Given the description of an element on the screen output the (x, y) to click on. 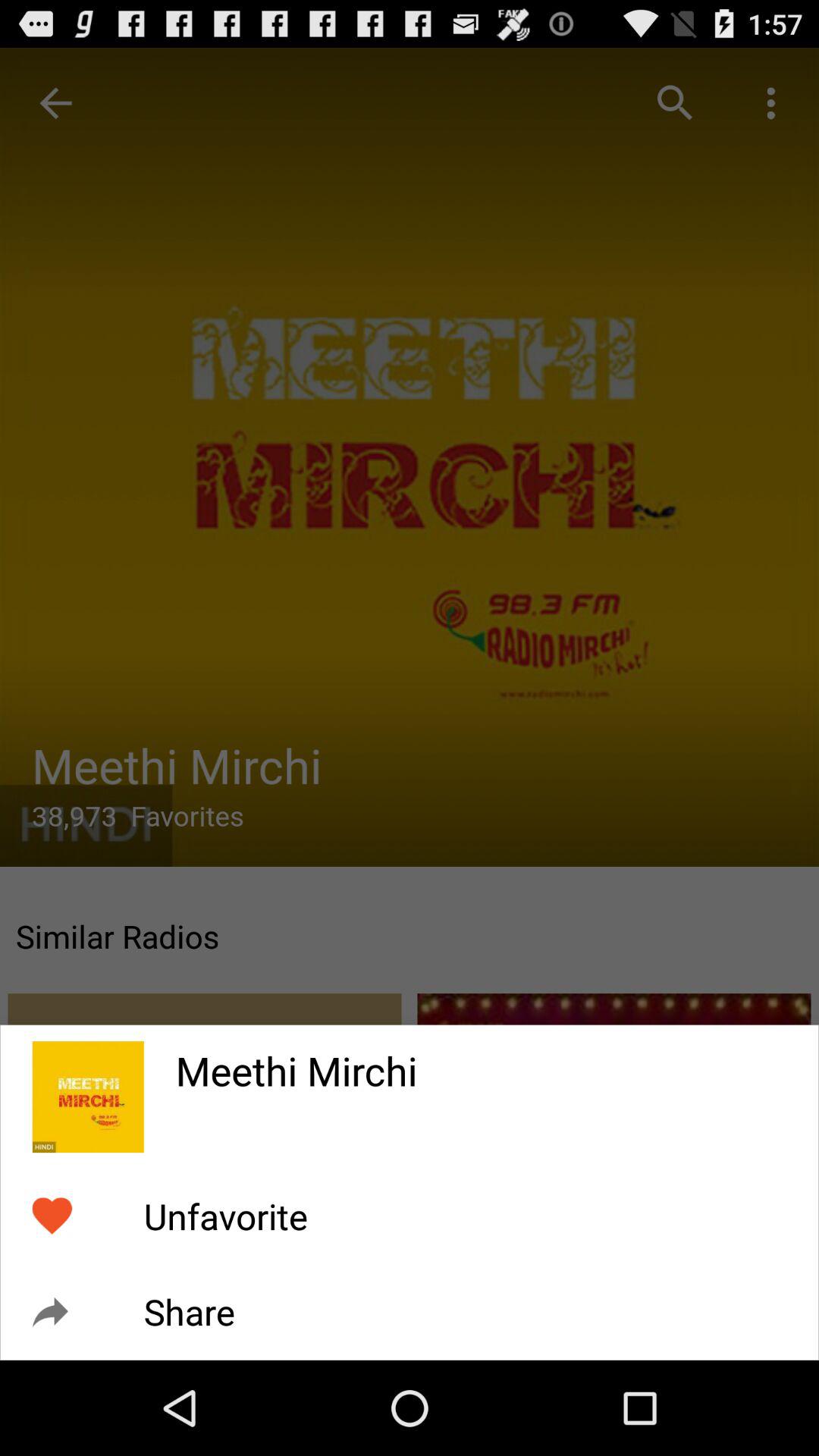
flip until unfavorite icon (225, 1216)
